Given the description of an element on the screen output the (x, y) to click on. 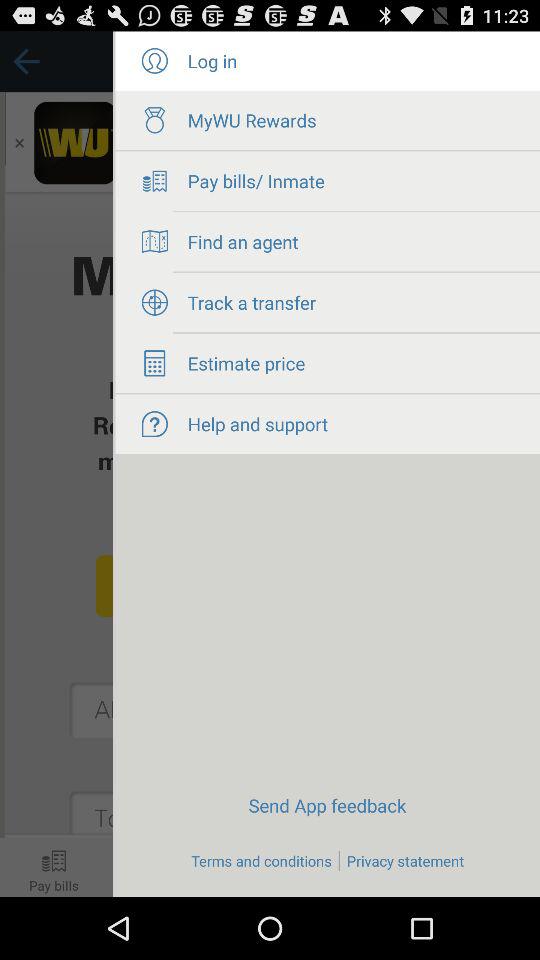
go back (56, 464)
